Given the description of an element on the screen output the (x, y) to click on. 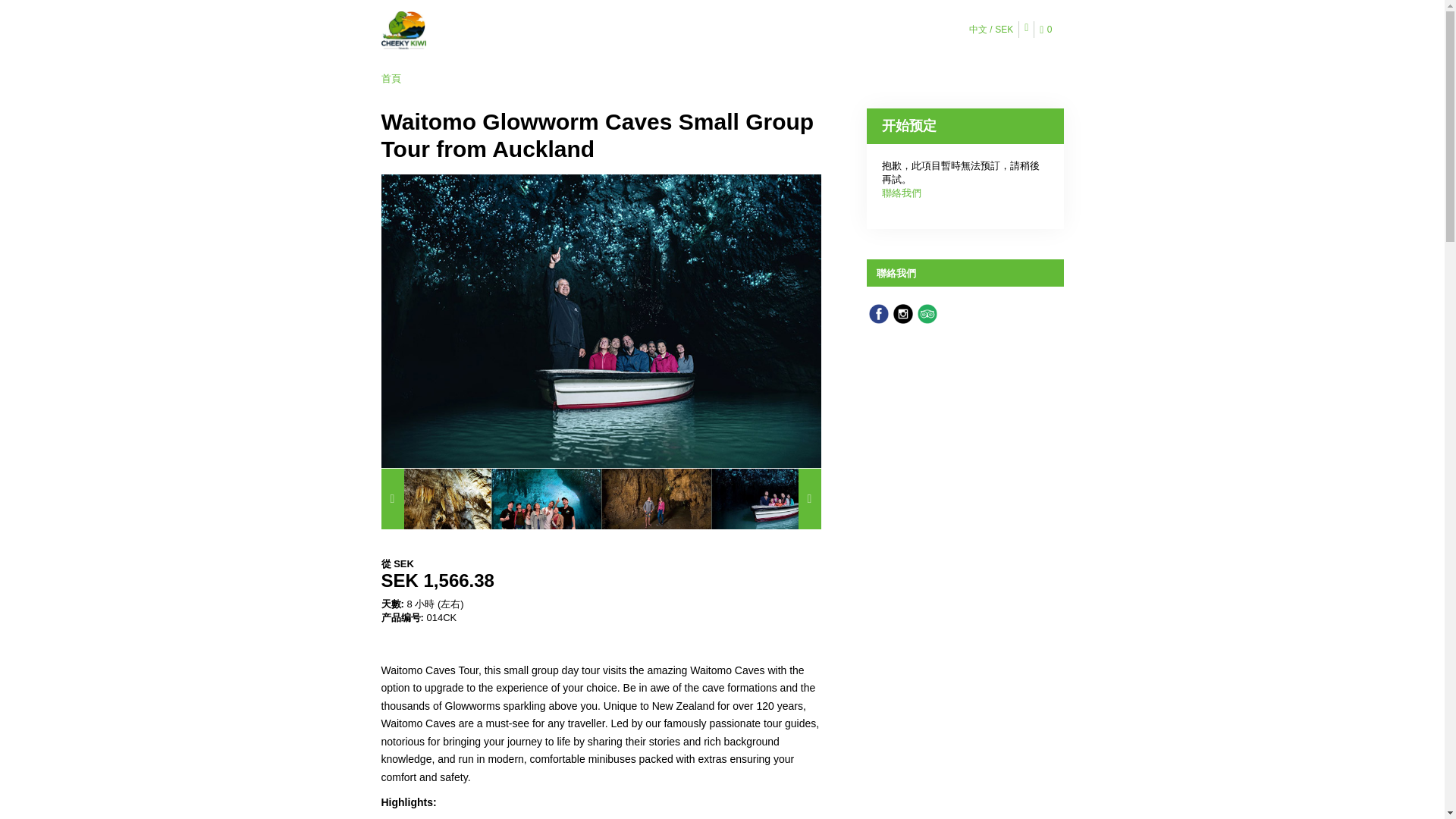
0 (1047, 30)
